Given the description of an element on the screen output the (x, y) to click on. 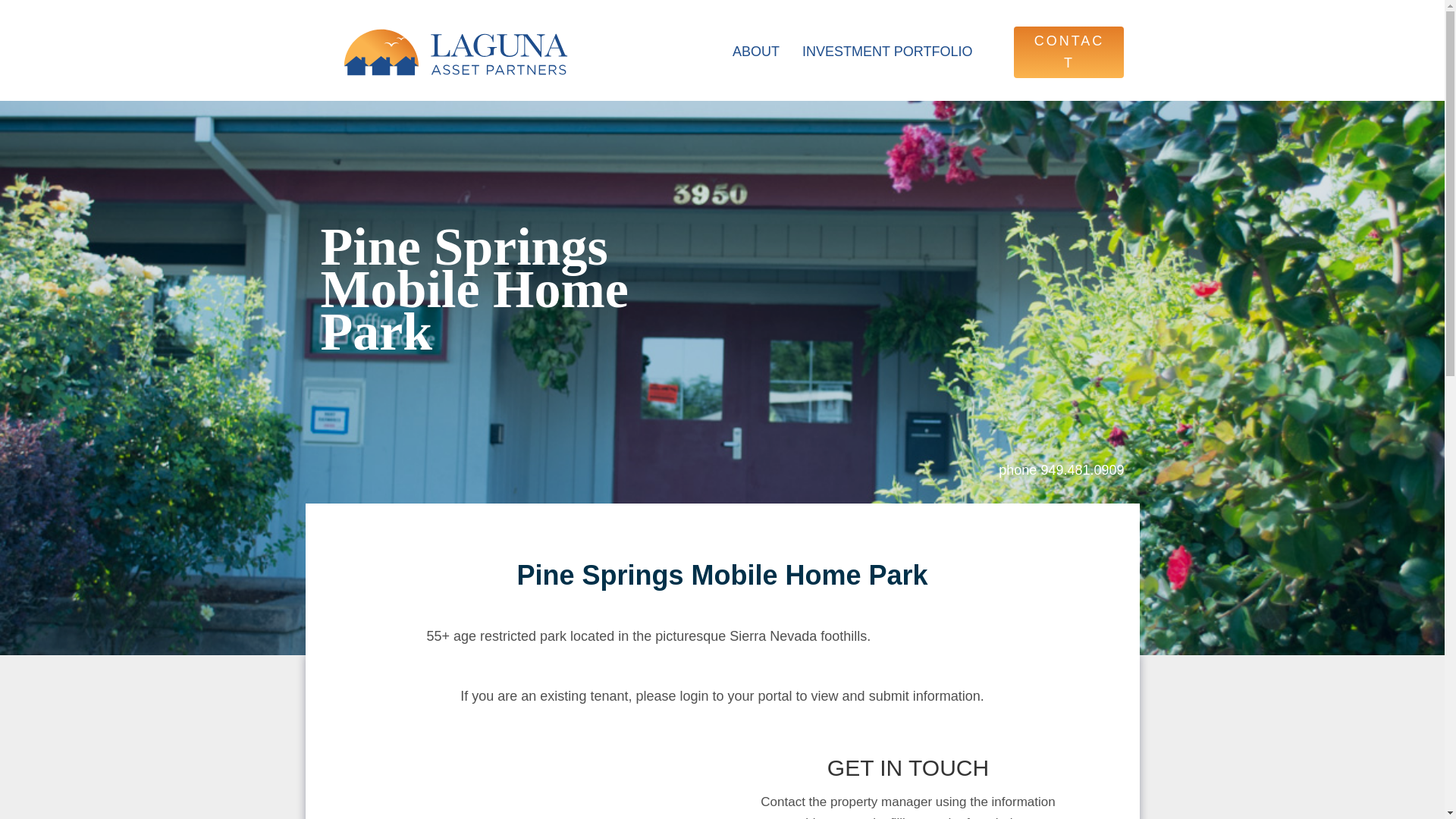
CONTACT (1068, 51)
ABOUT (755, 51)
INVESTMENT PORTFOLIO (887, 51)
Full-LAP-Logo-Multicolored (454, 52)
